Given the description of an element on the screen output the (x, y) to click on. 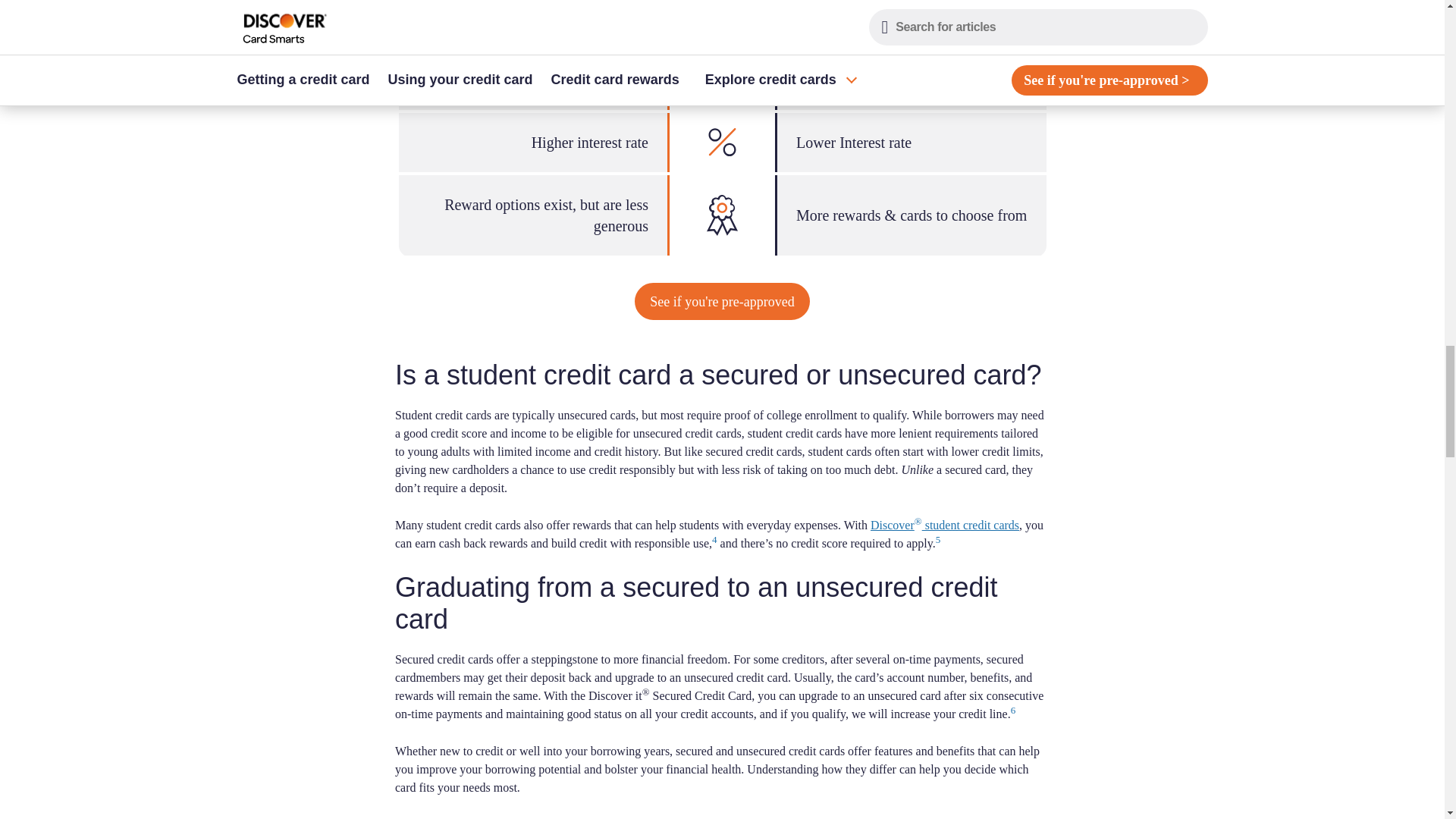
See if you're pre-approved (721, 301)
